Given the description of an element on the screen output the (x, y) to click on. 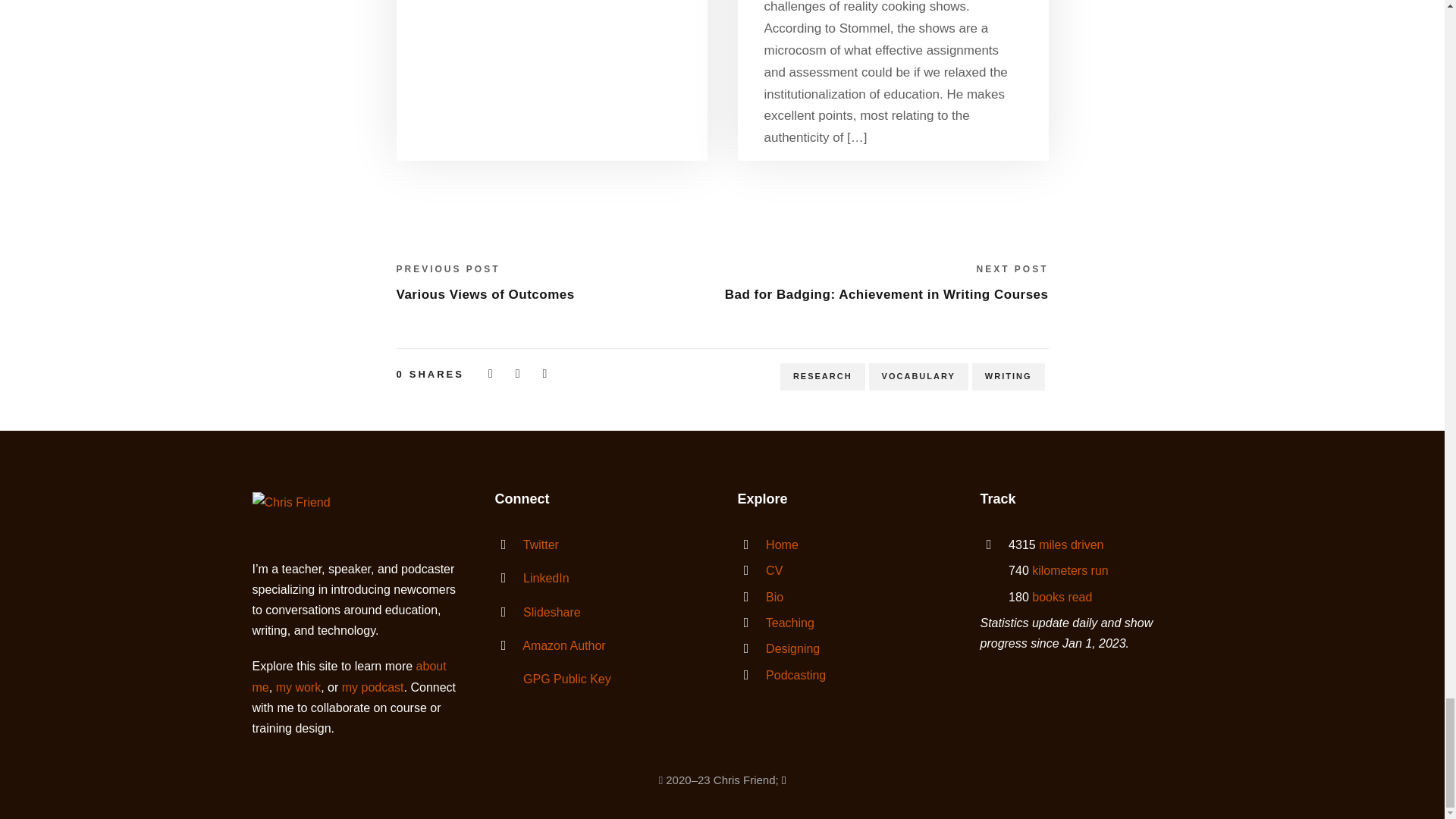
VOCABULARY (918, 377)
RESEARCH (822, 377)
Various Views of Outcomes (484, 294)
Bad for Badging: Achievement in Writing Courses (886, 294)
